Given the description of an element on the screen output the (x, y) to click on. 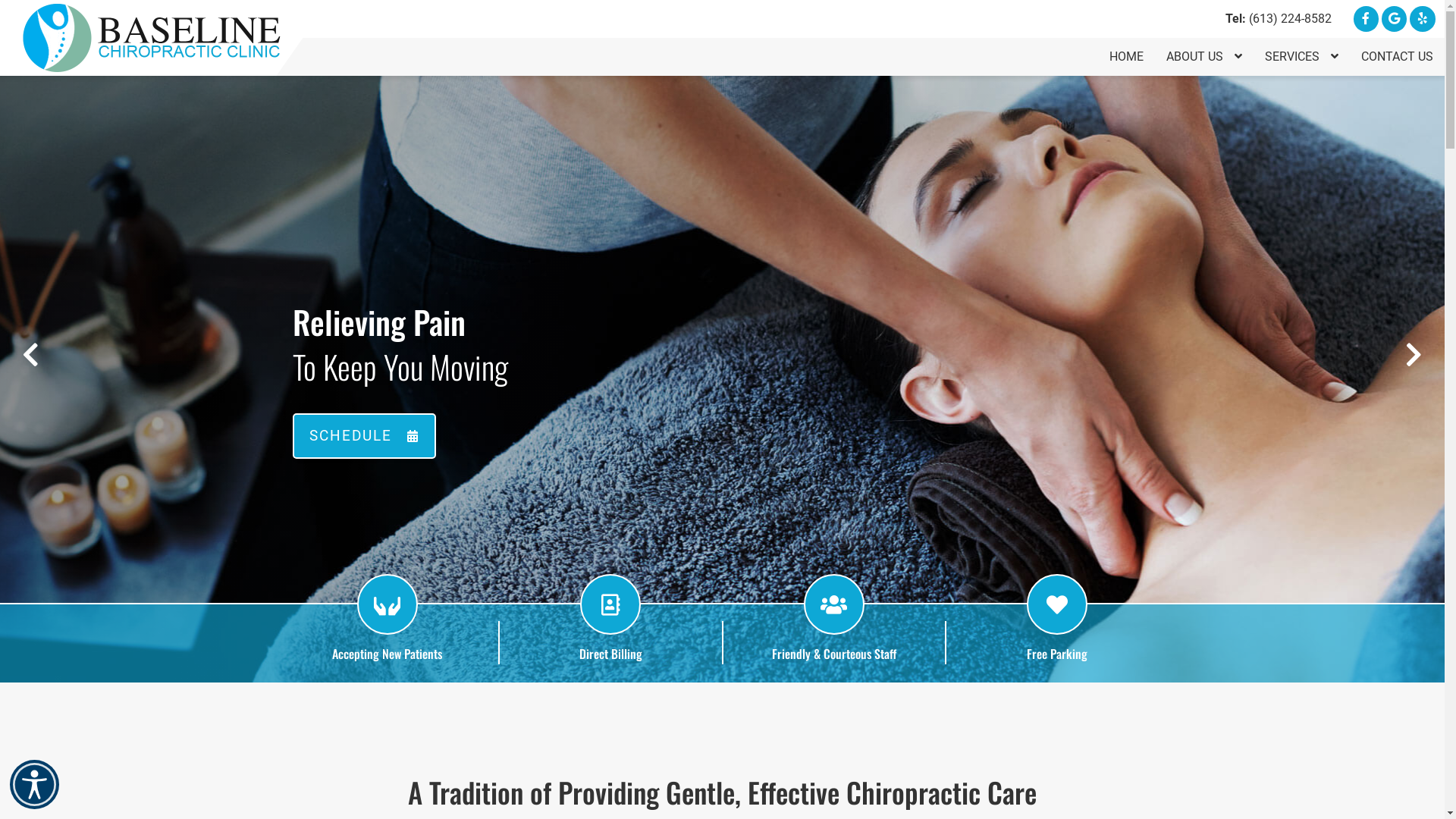
Accepting New Patients Element type: text (387, 653)
Friendly & Courteous Staff Element type: text (833, 653)
HOME Element type: text (1126, 56)
Tel: (613) 224-8582 Element type: text (1278, 18)
CONTACT US Element type: text (1396, 56)
SCHEDULE Element type: text (364, 435)
Free Parking Element type: text (1056, 653)
Direct Billing Element type: text (610, 653)
Logo Element type: text (151, 37)
SERVICES Element type: text (1301, 56)
ABOUT US Element type: text (1203, 56)
